Given the description of an element on the screen output the (x, y) to click on. 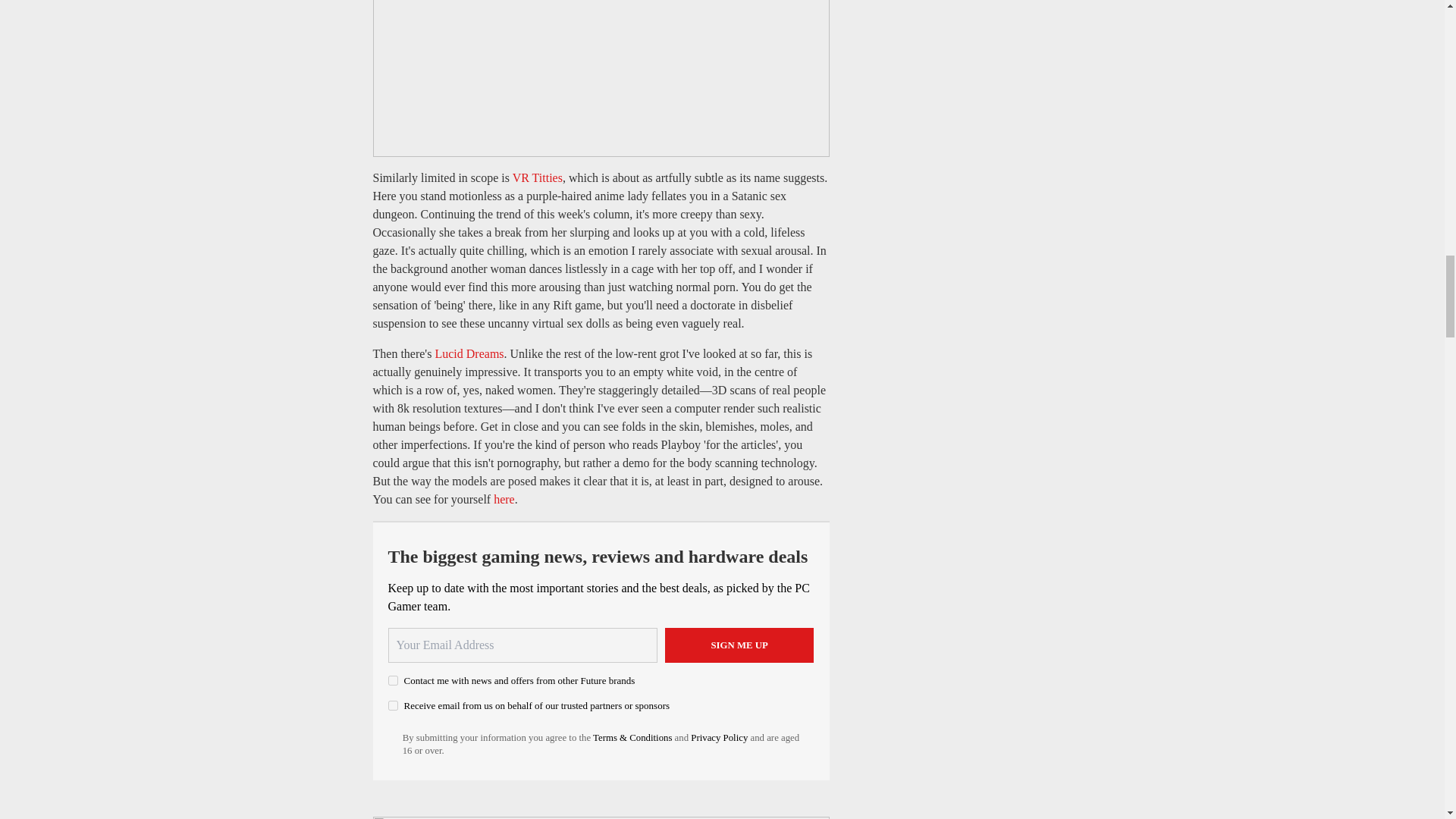
Sign me up (739, 645)
on (392, 680)
on (392, 705)
